Given the description of an element on the screen output the (x, y) to click on. 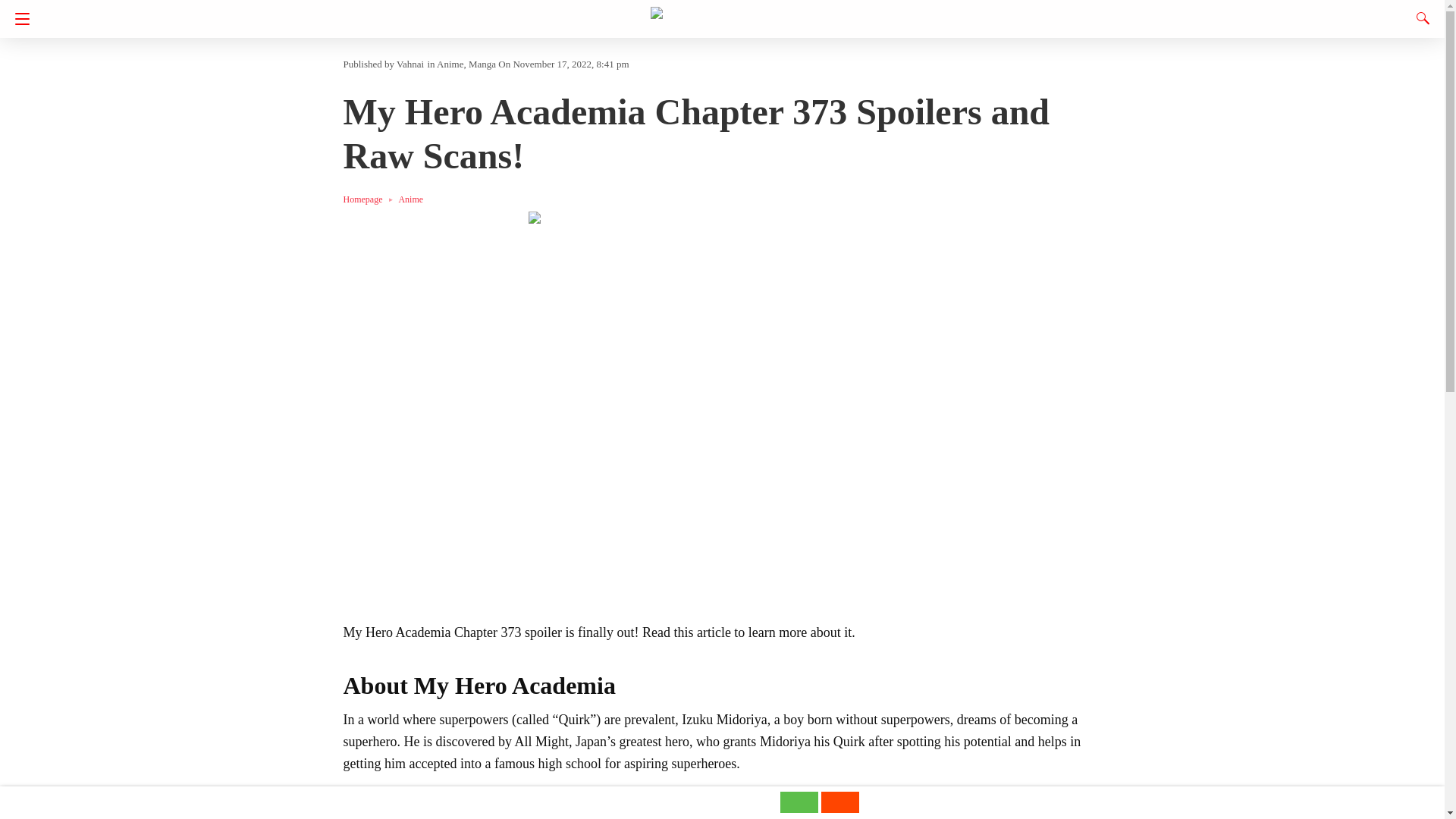
Anime (410, 199)
Manga (482, 63)
Anime (410, 199)
The News Fetcher (722, 14)
Anime (449, 63)
Homepage (369, 199)
whatsapp share (799, 808)
Homepage (369, 199)
